Given the description of an element on the screen output the (x, y) to click on. 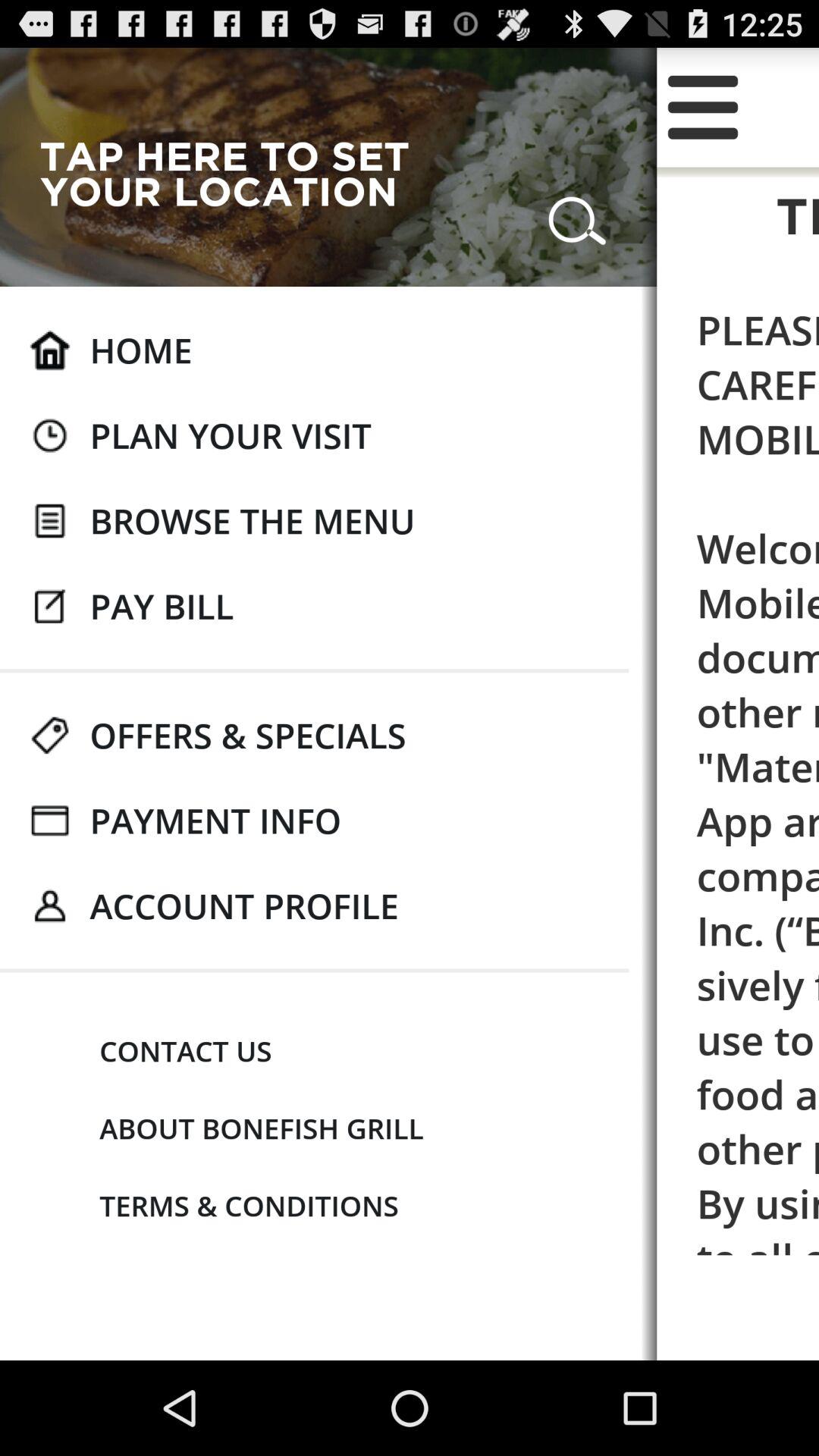
tap the tap here to icon (236, 172)
